Given the description of an element on the screen output the (x, y) to click on. 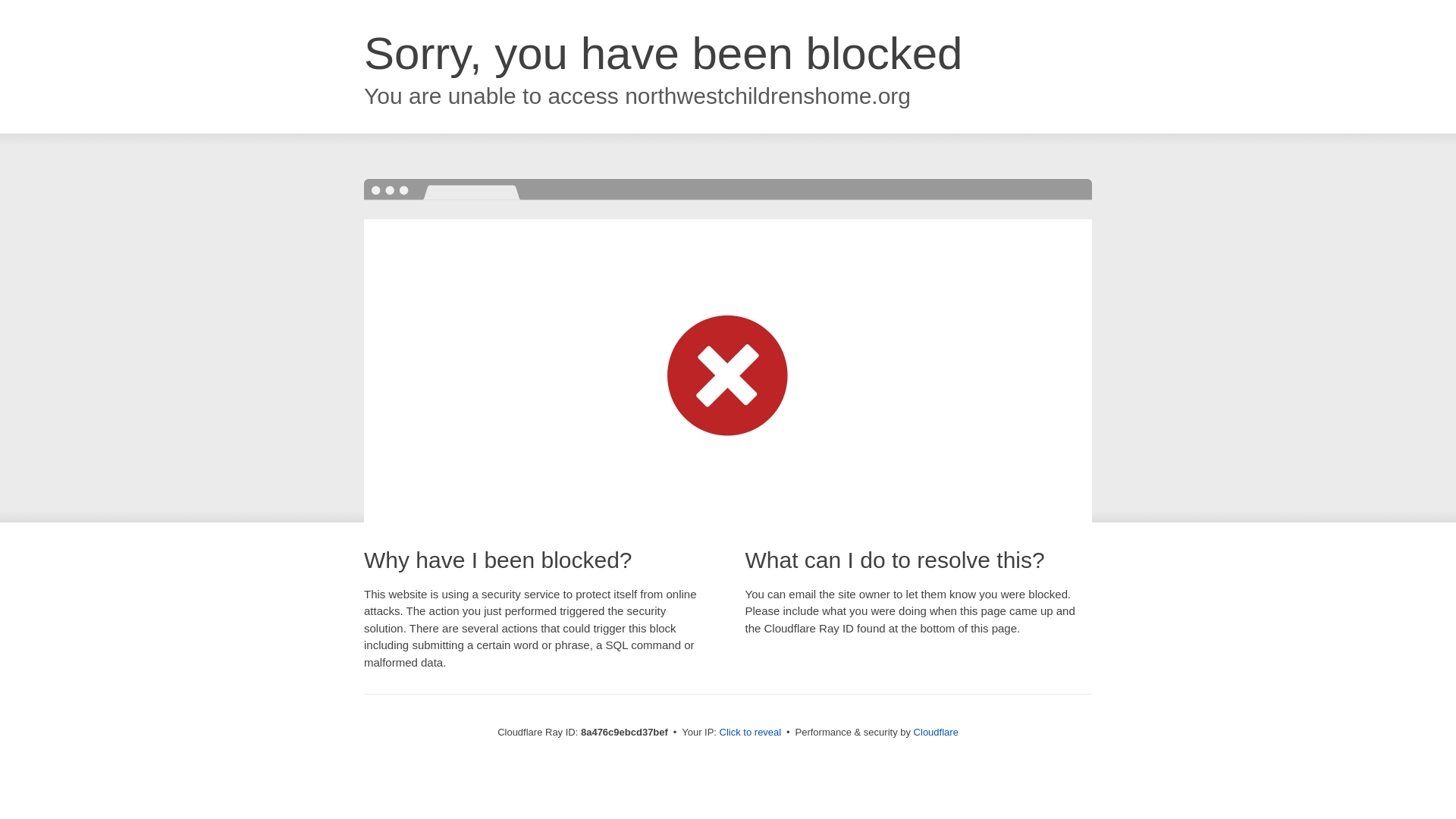
Click to reveal (750, 732)
Cloudflare (936, 731)
